Given the description of an element on the screen output the (x, y) to click on. 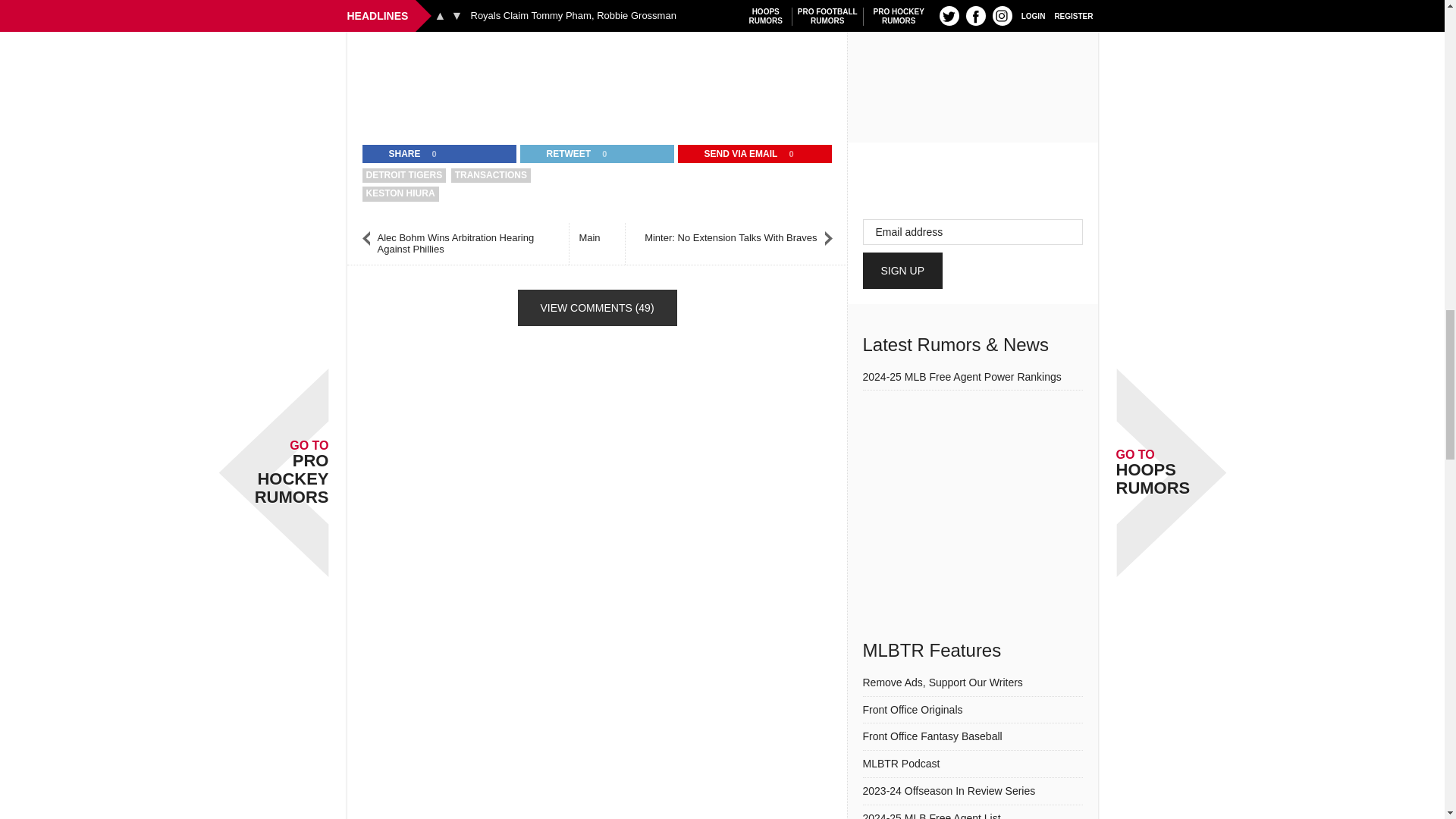
Sign Up (903, 270)
